Given the description of an element on the screen output the (x, y) to click on. 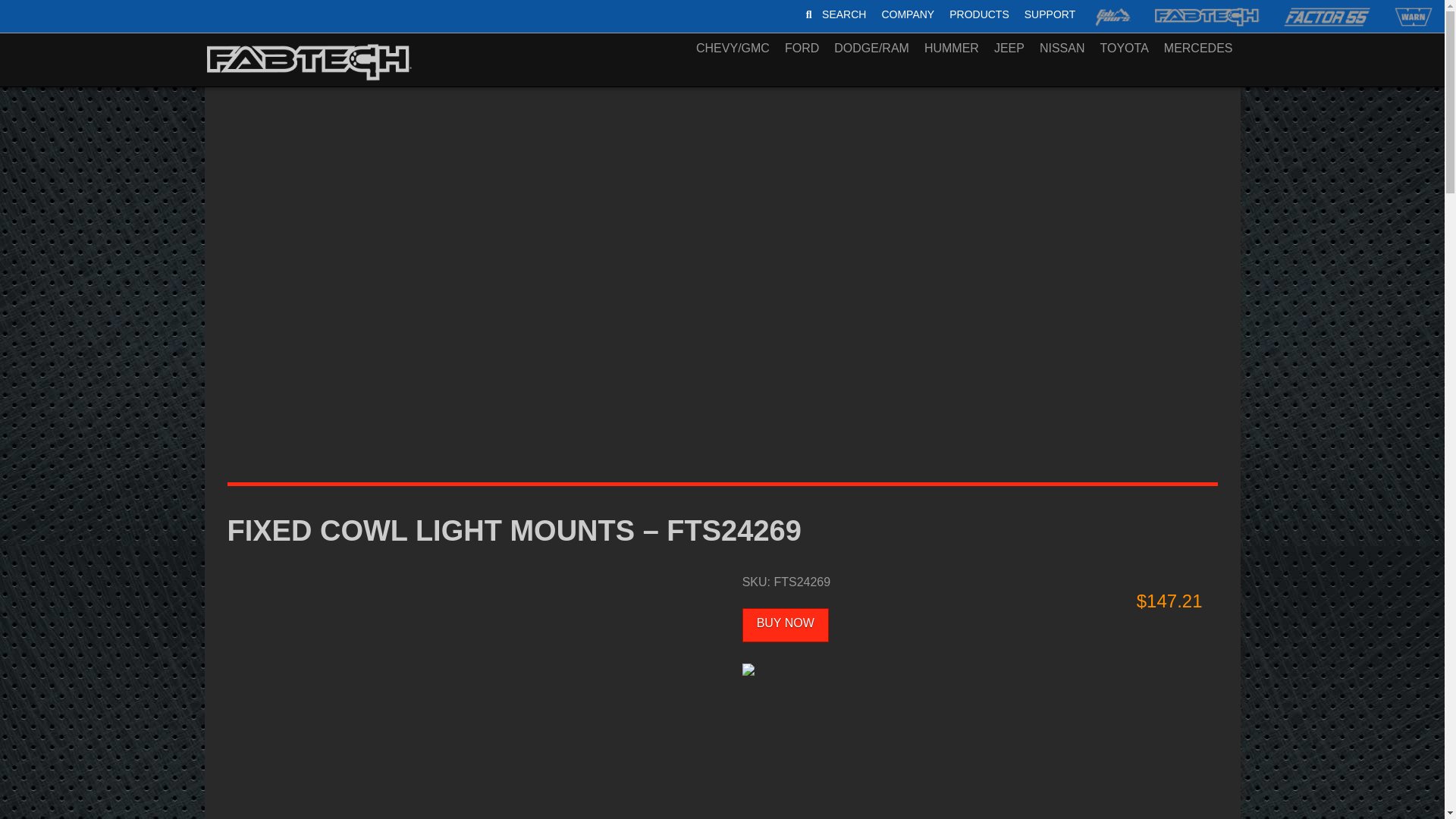
PRODUCTS (979, 14)
SUPPORT (1049, 14)
COMPANY (938, 14)
